Given the description of an element on the screen output the (x, y) to click on. 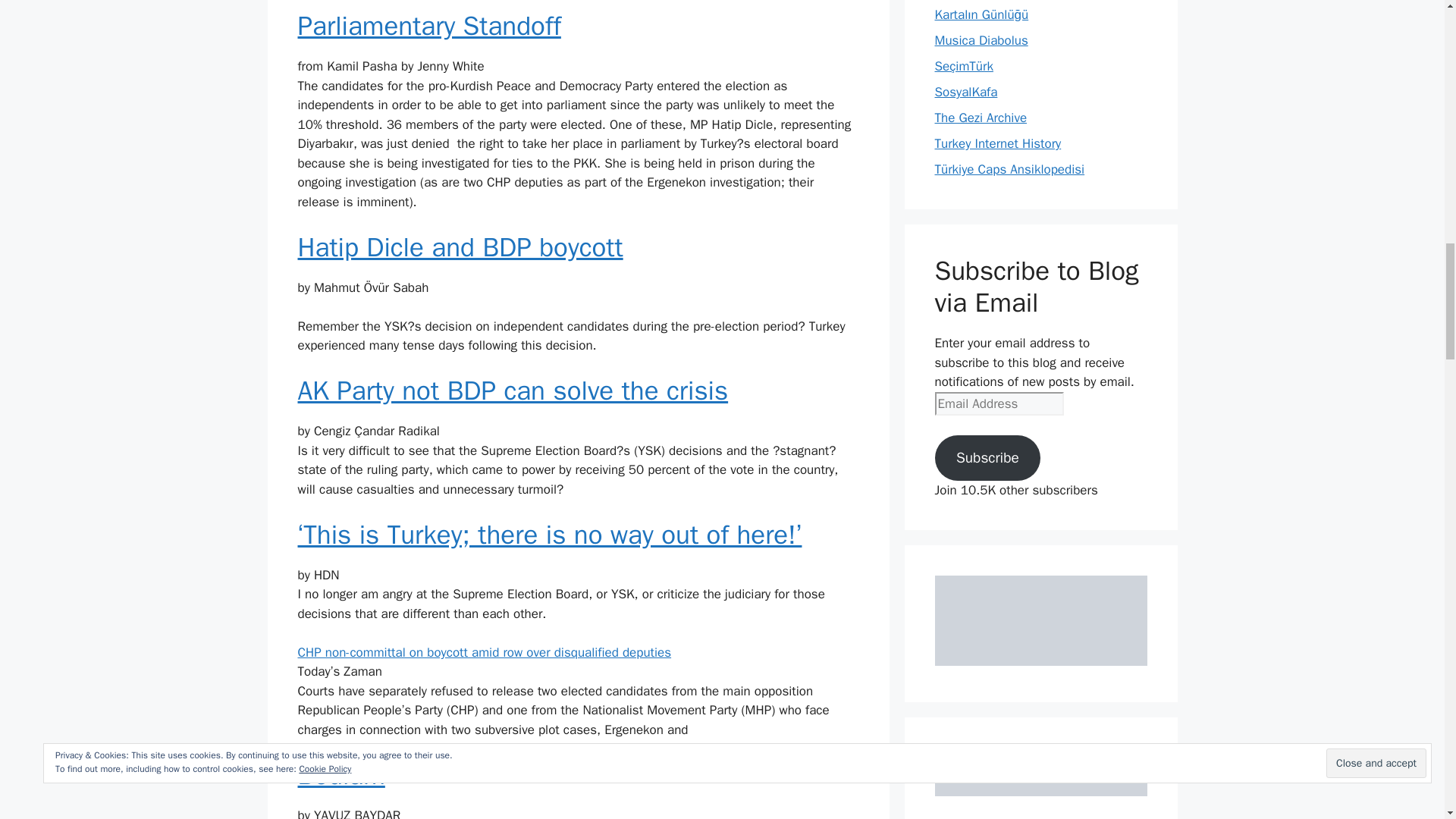
Hatip Dicle and BDP boycott (460, 246)
AK Party not BDP can solve the crisis (512, 390)
Parliamentary Standoff (428, 25)
Bedlam (340, 774)
